Given the description of an element on the screen output the (x, y) to click on. 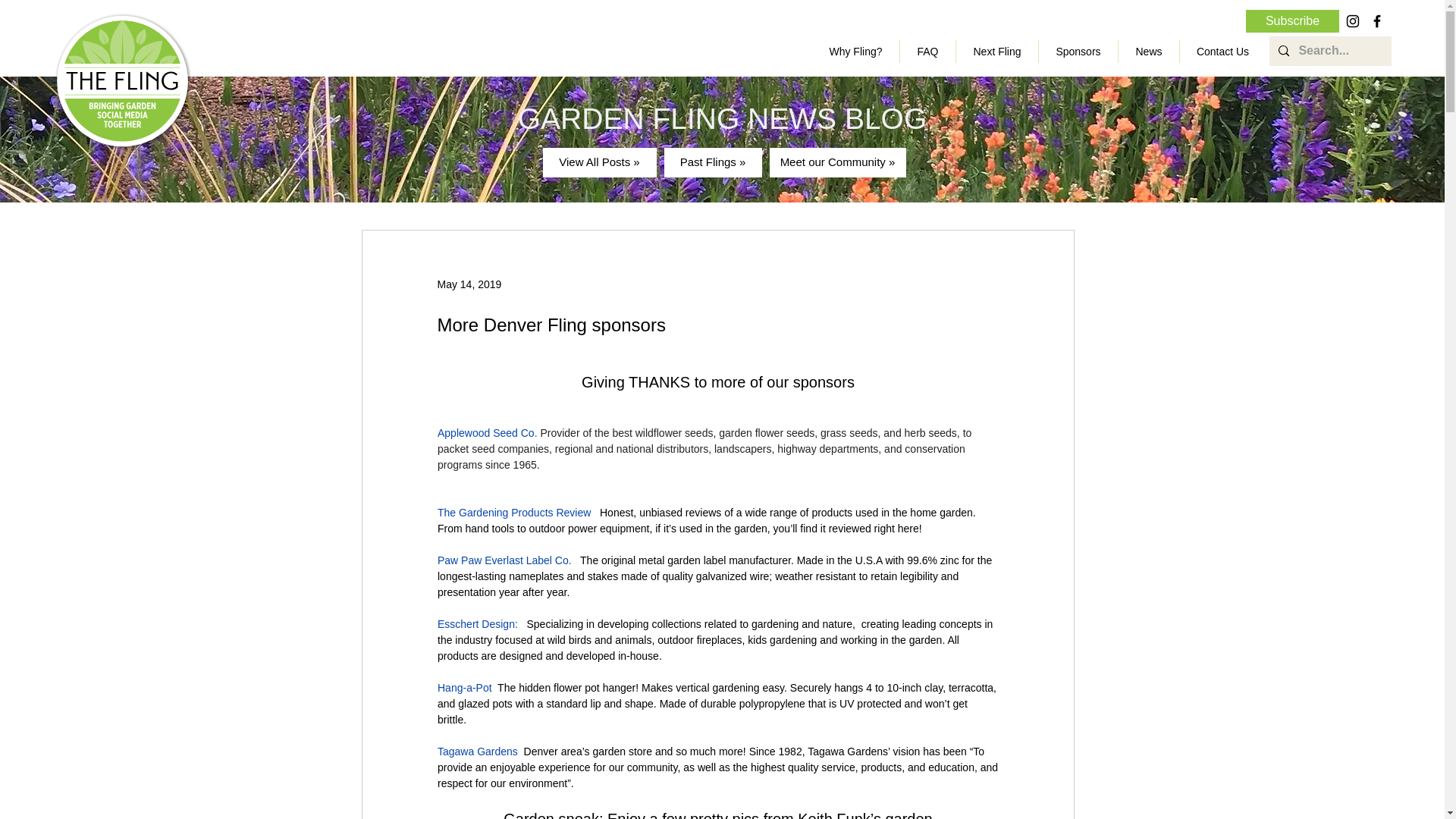
Subscribe (1292, 20)
Next Fling (997, 51)
Paw Paw Everlast Label Co. (503, 560)
The Gardening Products Review (512, 512)
GARDEN FLING NEWS BLOG (722, 118)
Contact Us (1222, 51)
News (1148, 51)
Sponsors (1078, 51)
Hang-a-Pot (464, 687)
Esschert Design:  (477, 623)
May 14, 2019 (468, 284)
Tagawa Gardens (476, 751)
Why Fling? (855, 51)
Applewood Seed Co. (486, 432)
FAQ (927, 51)
